Given the description of an element on the screen output the (x, y) to click on. 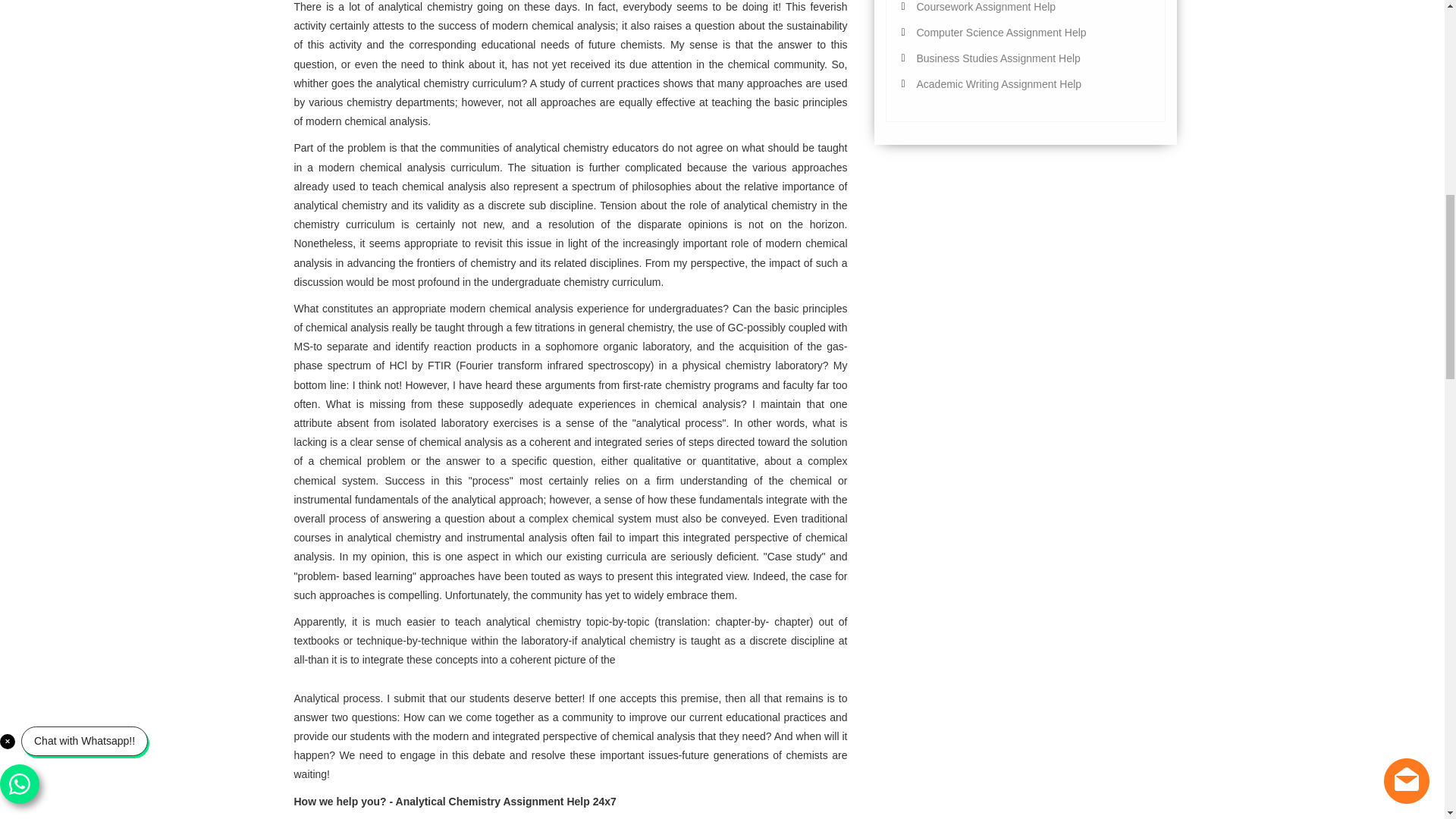
Academic Writing Assignment Help (998, 83)
Coursework Assignment Help (985, 6)
Computer Science Assignment Help (1000, 32)
Business Studies Assignment Help (997, 58)
